Given the description of an element on the screen output the (x, y) to click on. 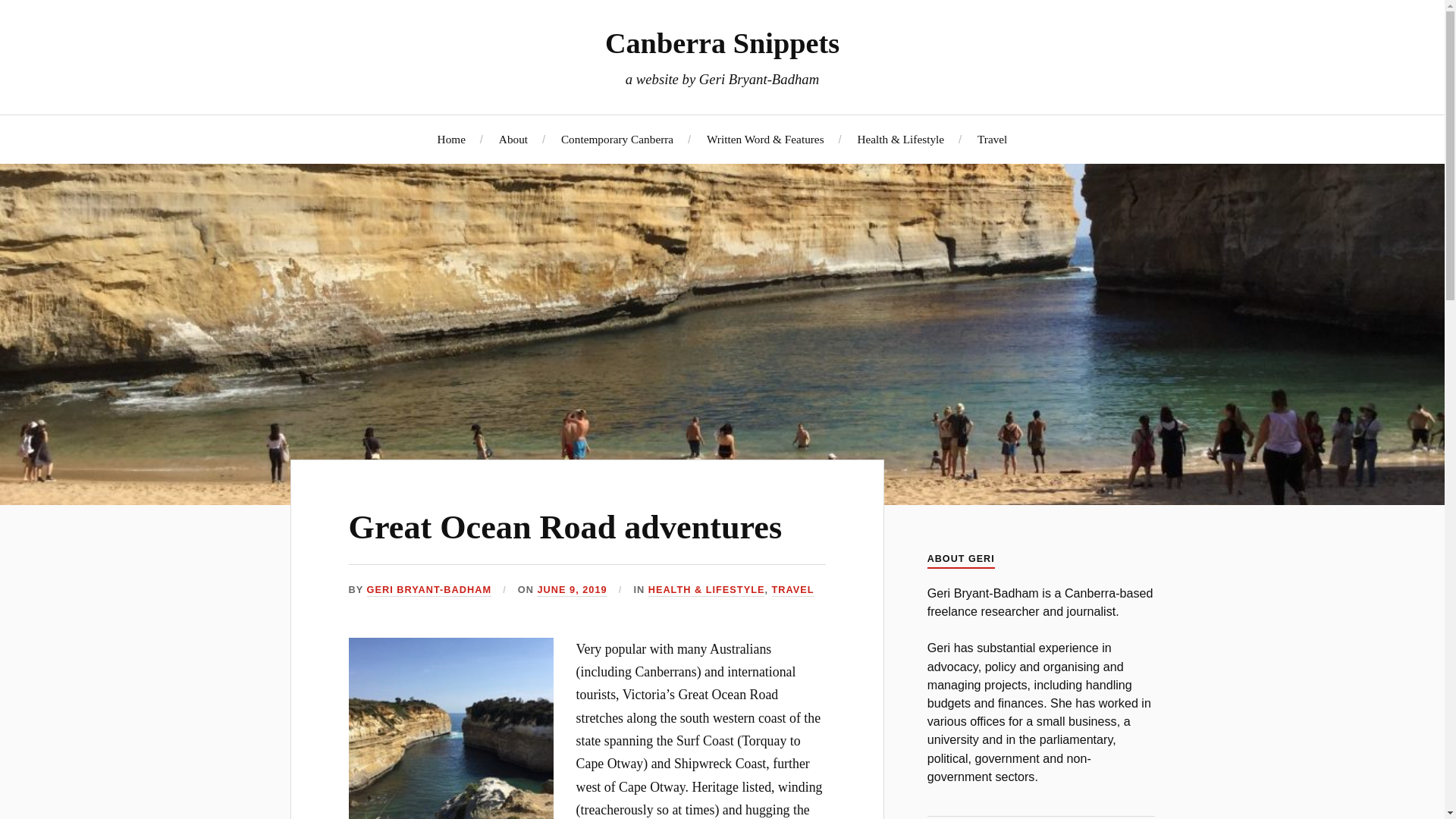
Contemporary Canberra (616, 138)
Canberra Snippets (722, 42)
Posts by Geri Bryant-Badham (429, 590)
JUNE 9, 2019 (572, 590)
TRAVEL (792, 590)
Great Ocean Road adventures (566, 527)
GERI BRYANT-BADHAM (429, 590)
